Given the description of an element on the screen output the (x, y) to click on. 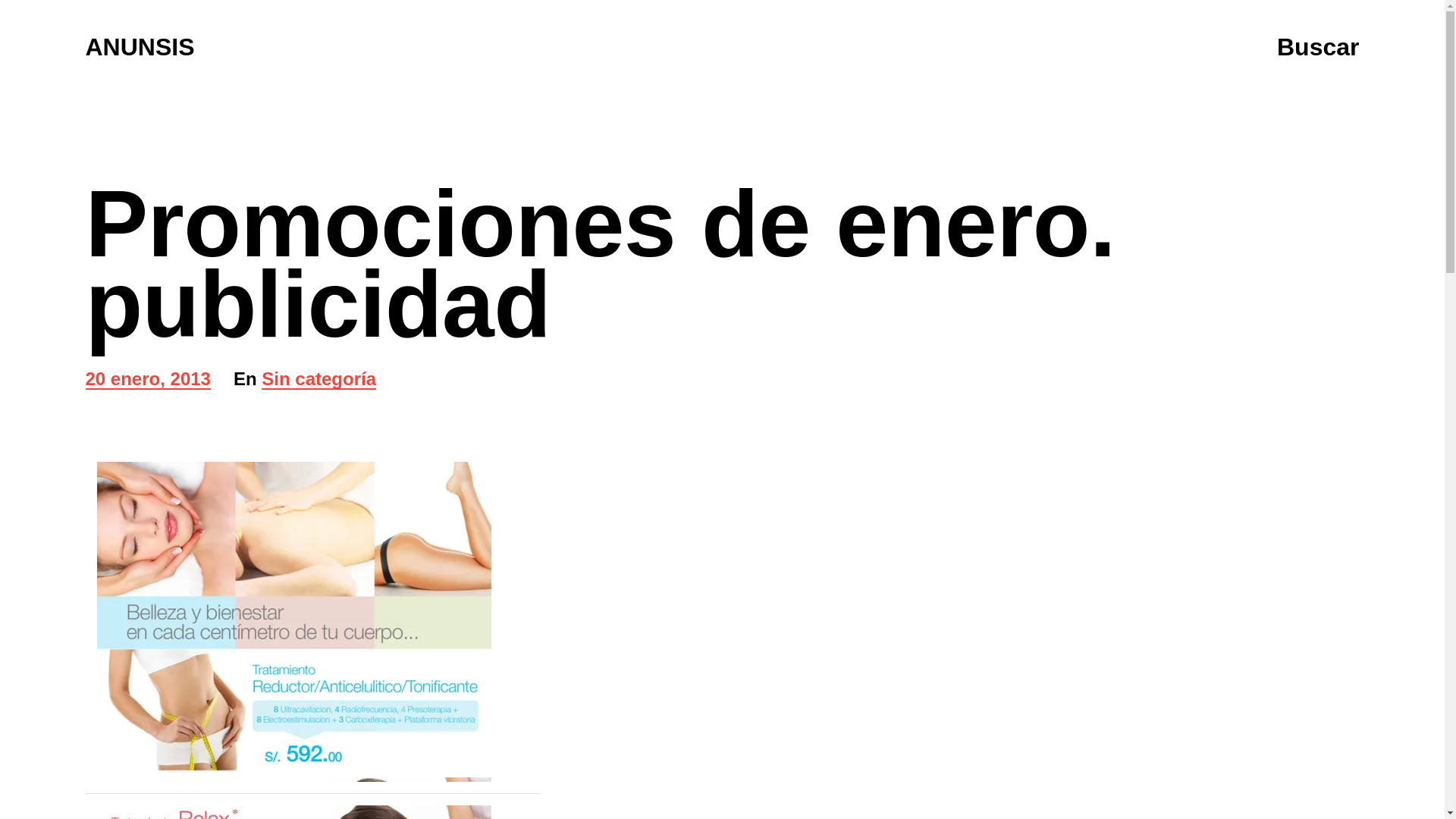
ANUNSIS (146, 380)
Buscar (138, 47)
